Given the description of an element on the screen output the (x, y) to click on. 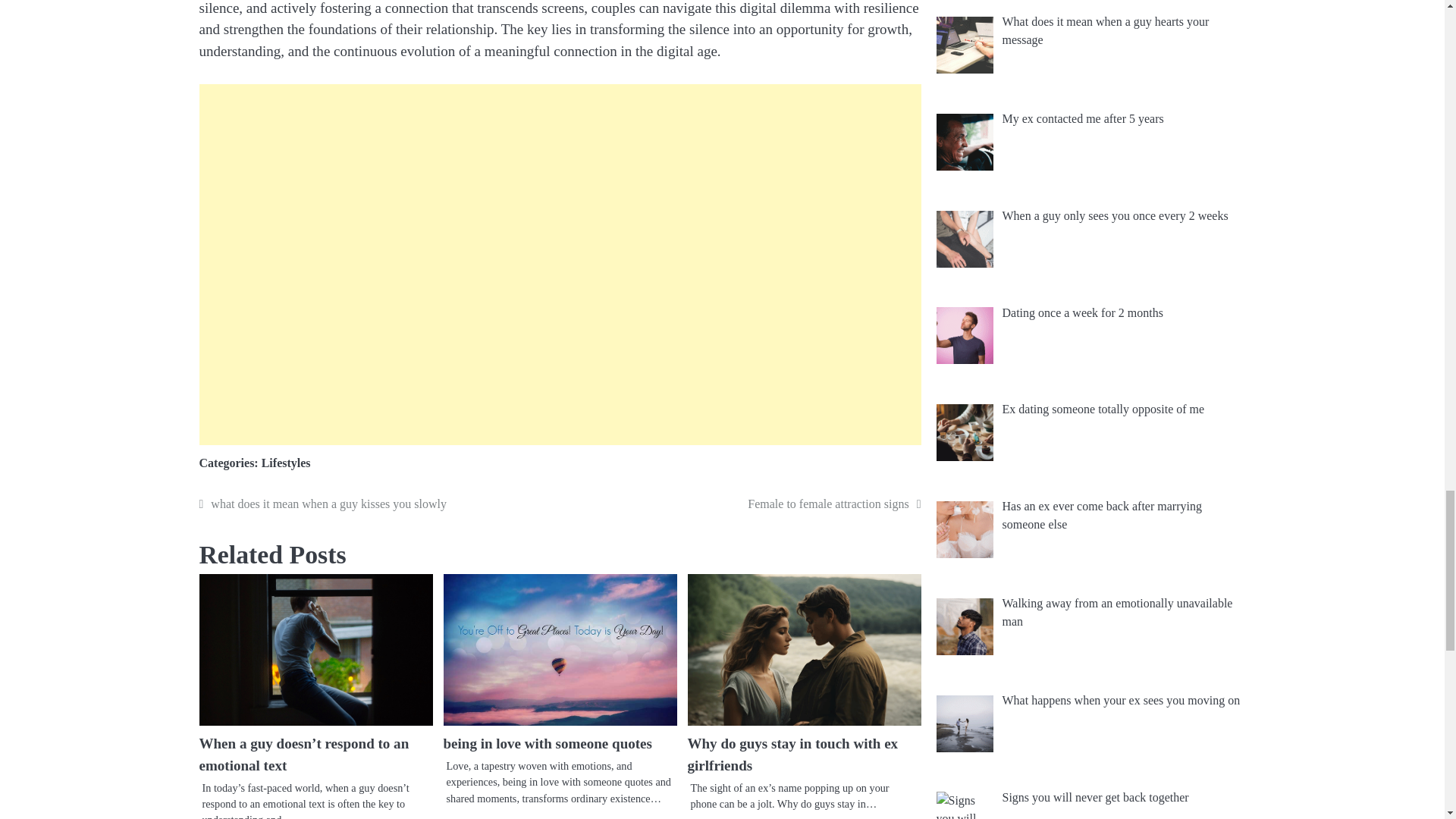
being in love with someone quotes (546, 743)
what does it mean when a guy kisses you slowly (377, 504)
Female to female attraction signs (742, 504)
Lifestyles (286, 462)
Why do guys stay in touch with ex girlfriends (792, 754)
